Given the description of an element on the screen output the (x, y) to click on. 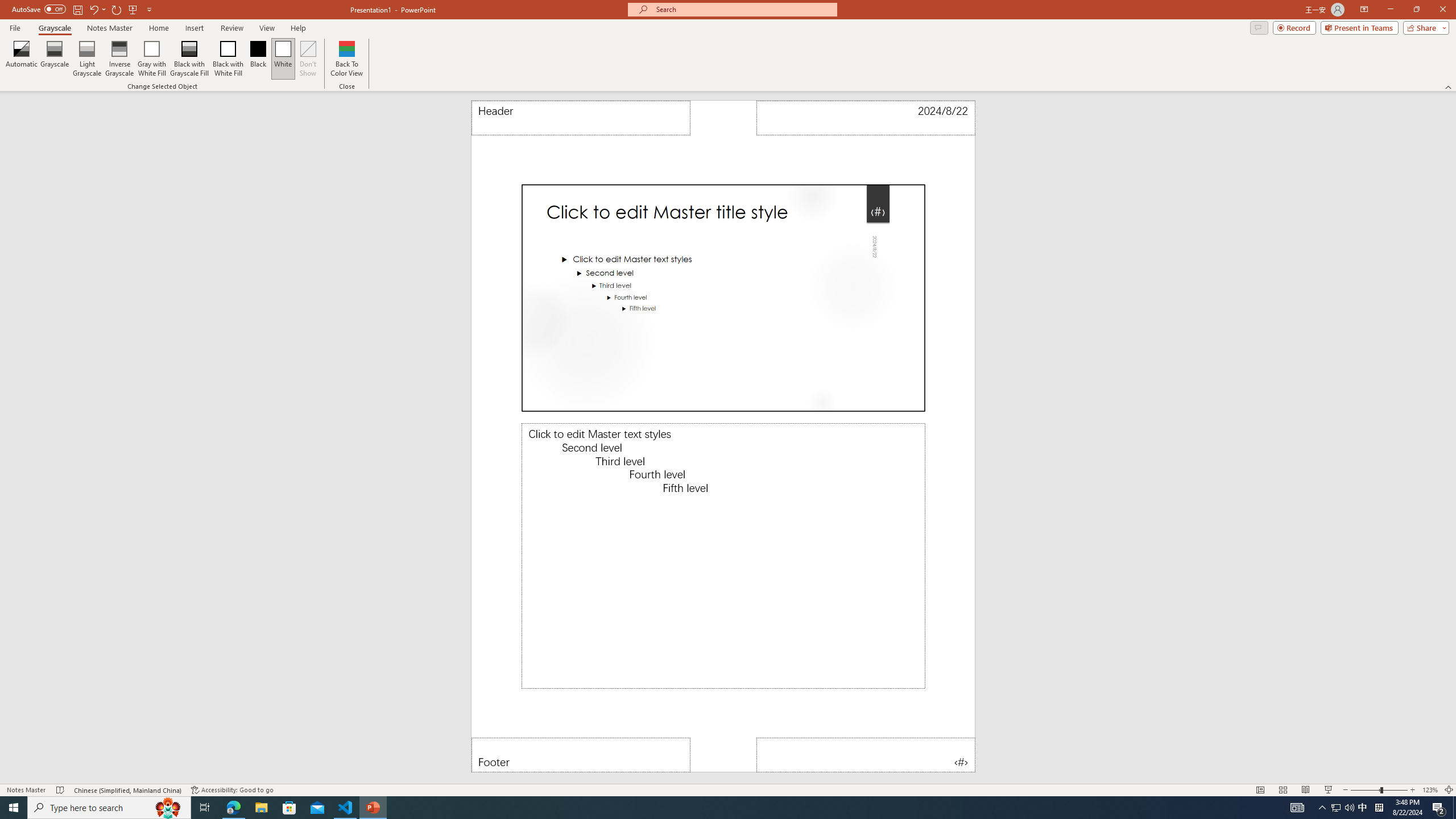
Footer (580, 754)
